Given the description of an element on the screen output the (x, y) to click on. 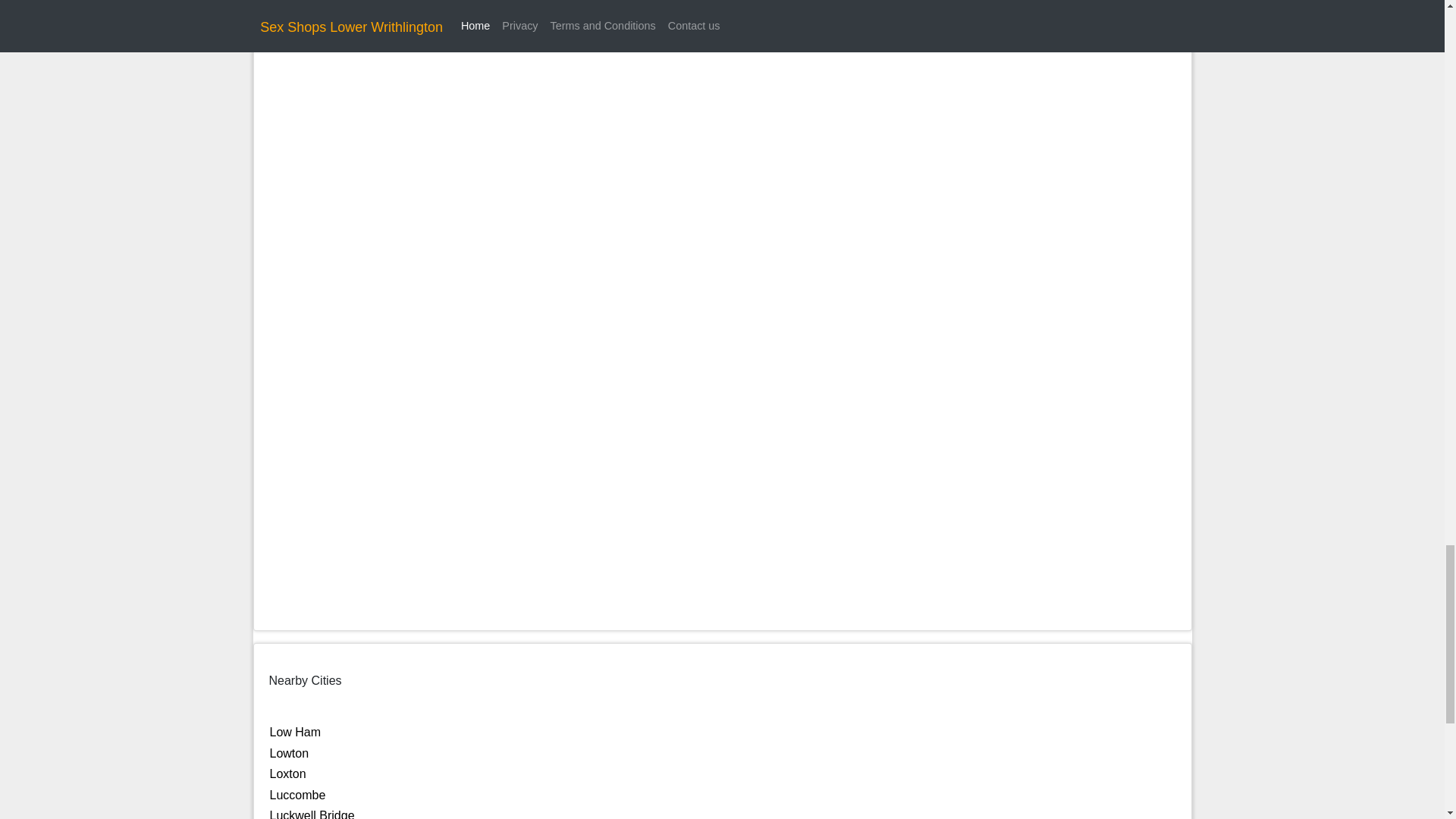
Luckwell Bridge (312, 814)
Loxton (287, 773)
Luccombe (297, 794)
Low Ham (295, 731)
Lowton (288, 753)
